Given the description of an element on the screen output the (x, y) to click on. 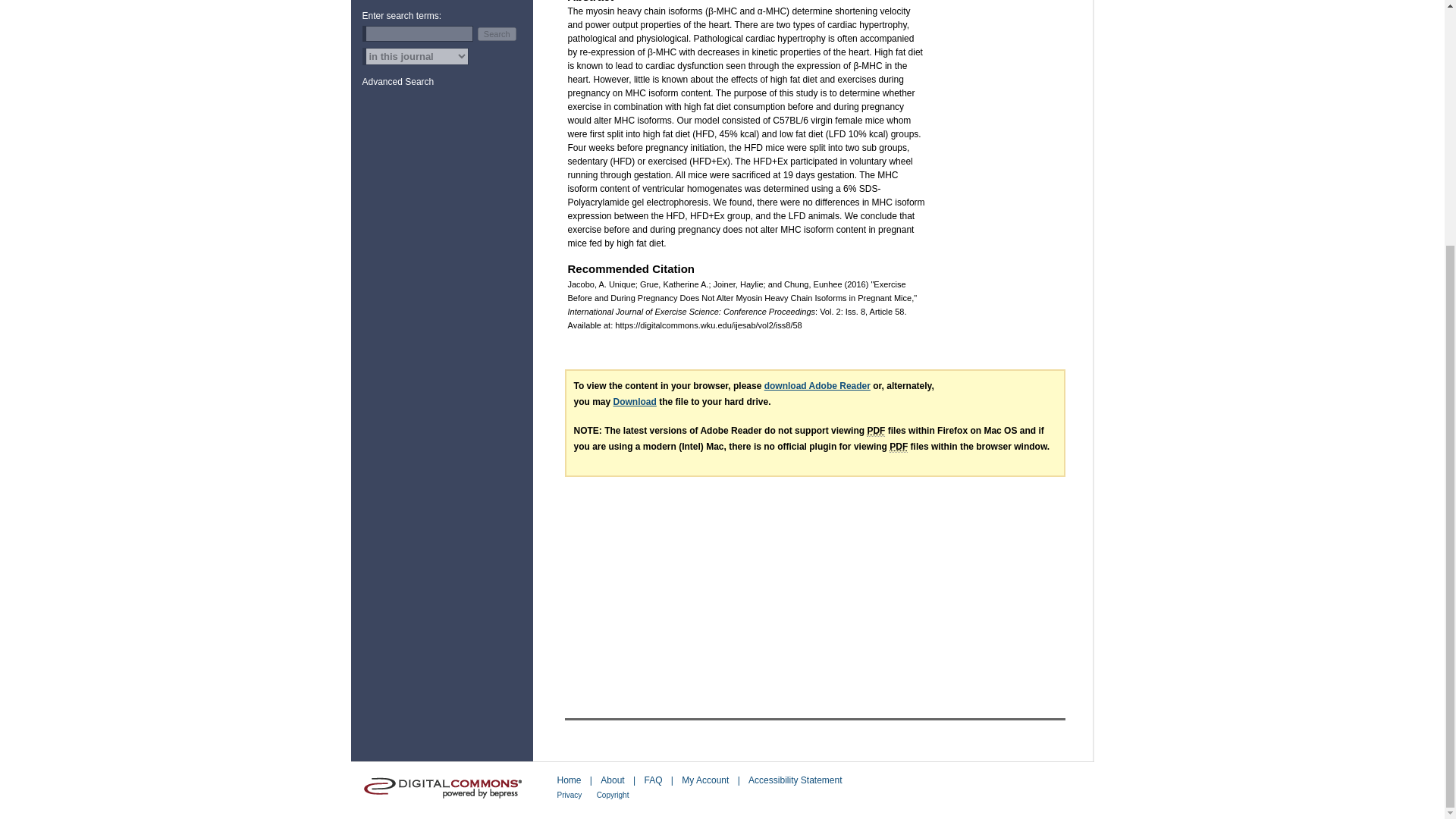
Download (634, 401)
Adobe - Adobe Reader download (817, 385)
download Adobe Reader (817, 385)
Search (496, 33)
Search (496, 33)
Portable Document Format (875, 430)
